Given the description of an element on the screen output the (x, y) to click on. 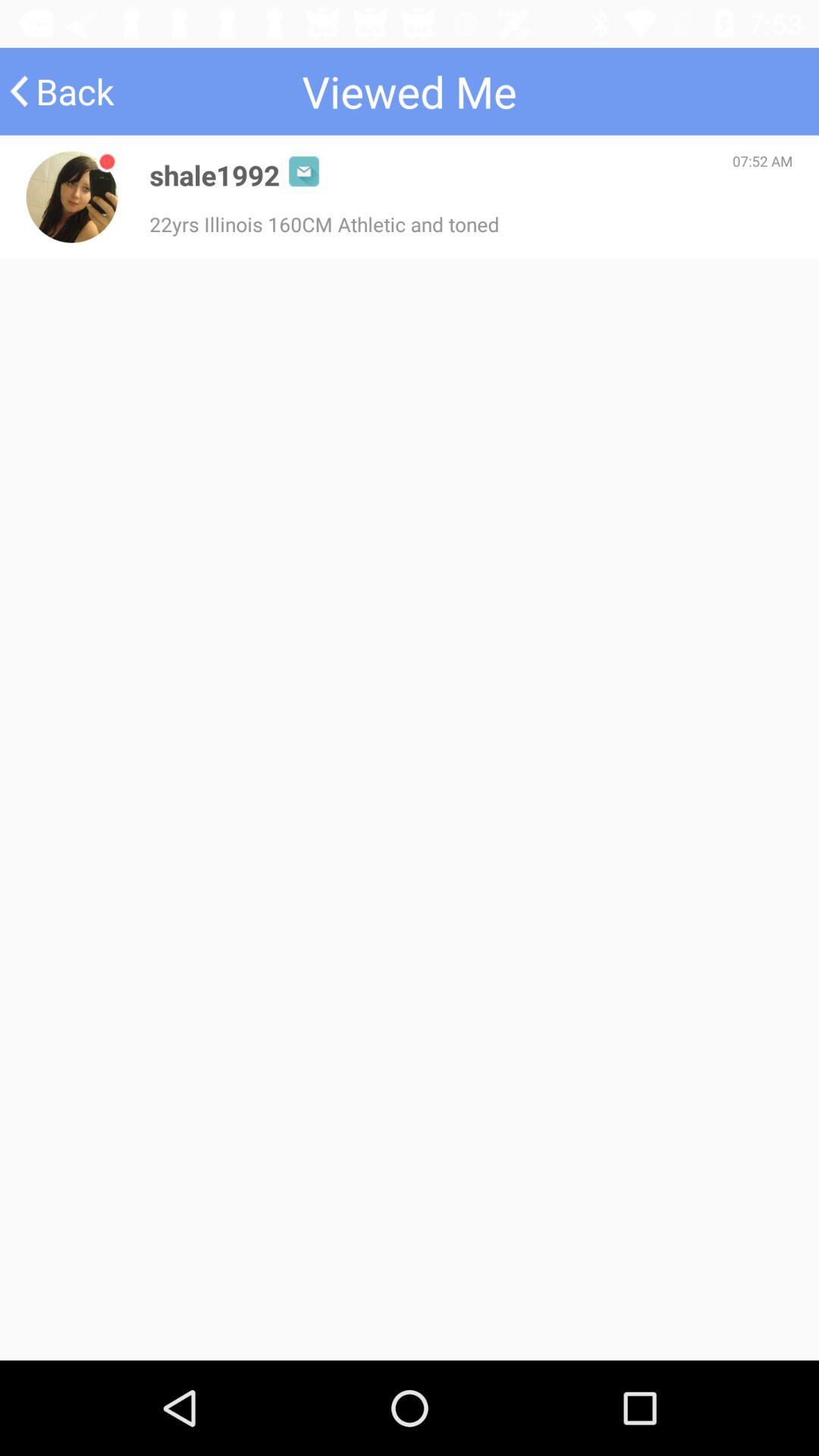
click item above the 22yrs illinois 160cm (214, 174)
